Given the description of an element on the screen output the (x, y) to click on. 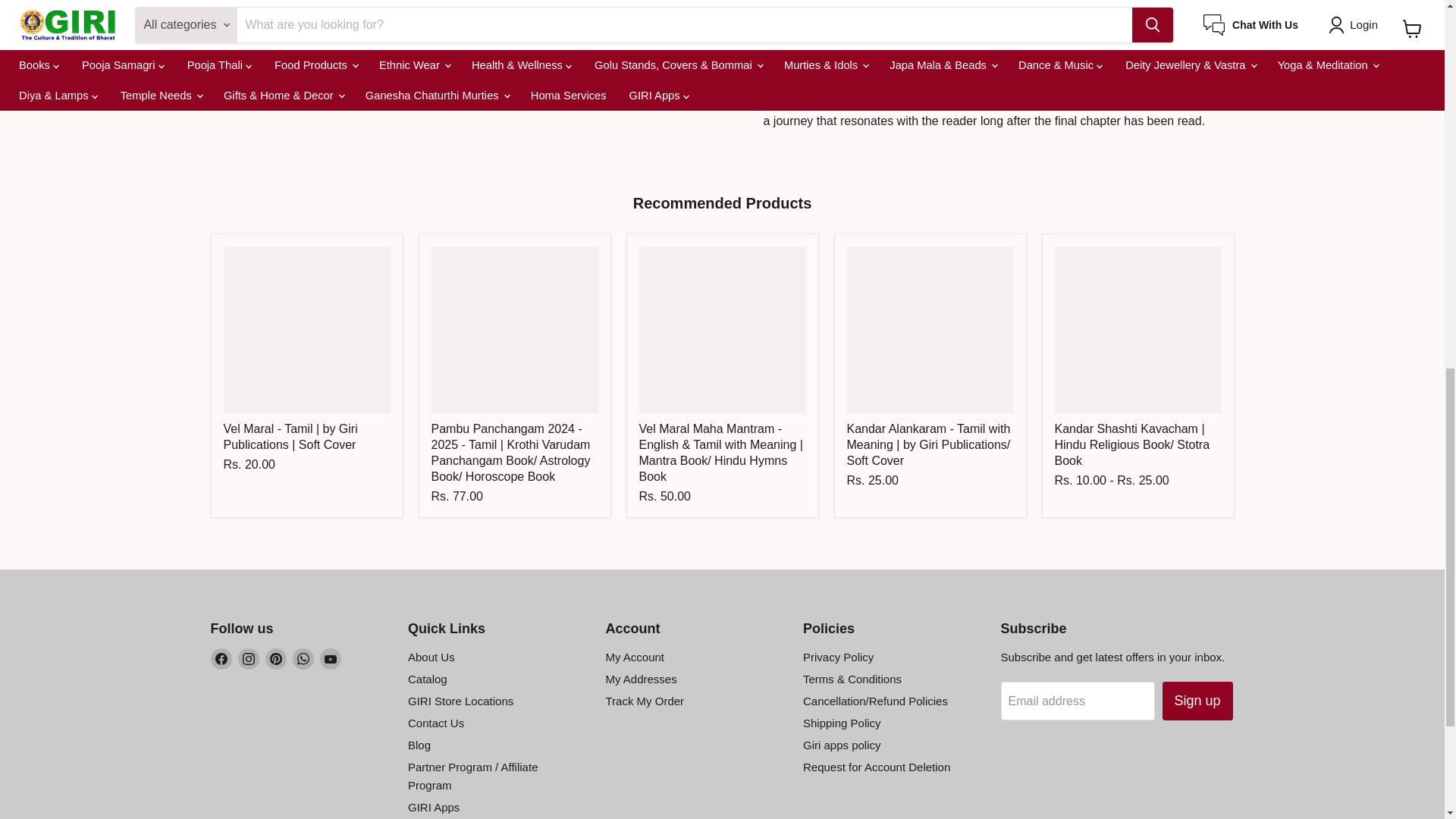
Facebook (221, 658)
WhatsApp (303, 658)
Pinterest (275, 658)
YouTube (330, 658)
Instagram (248, 658)
